Given the description of an element on the screen output the (x, y) to click on. 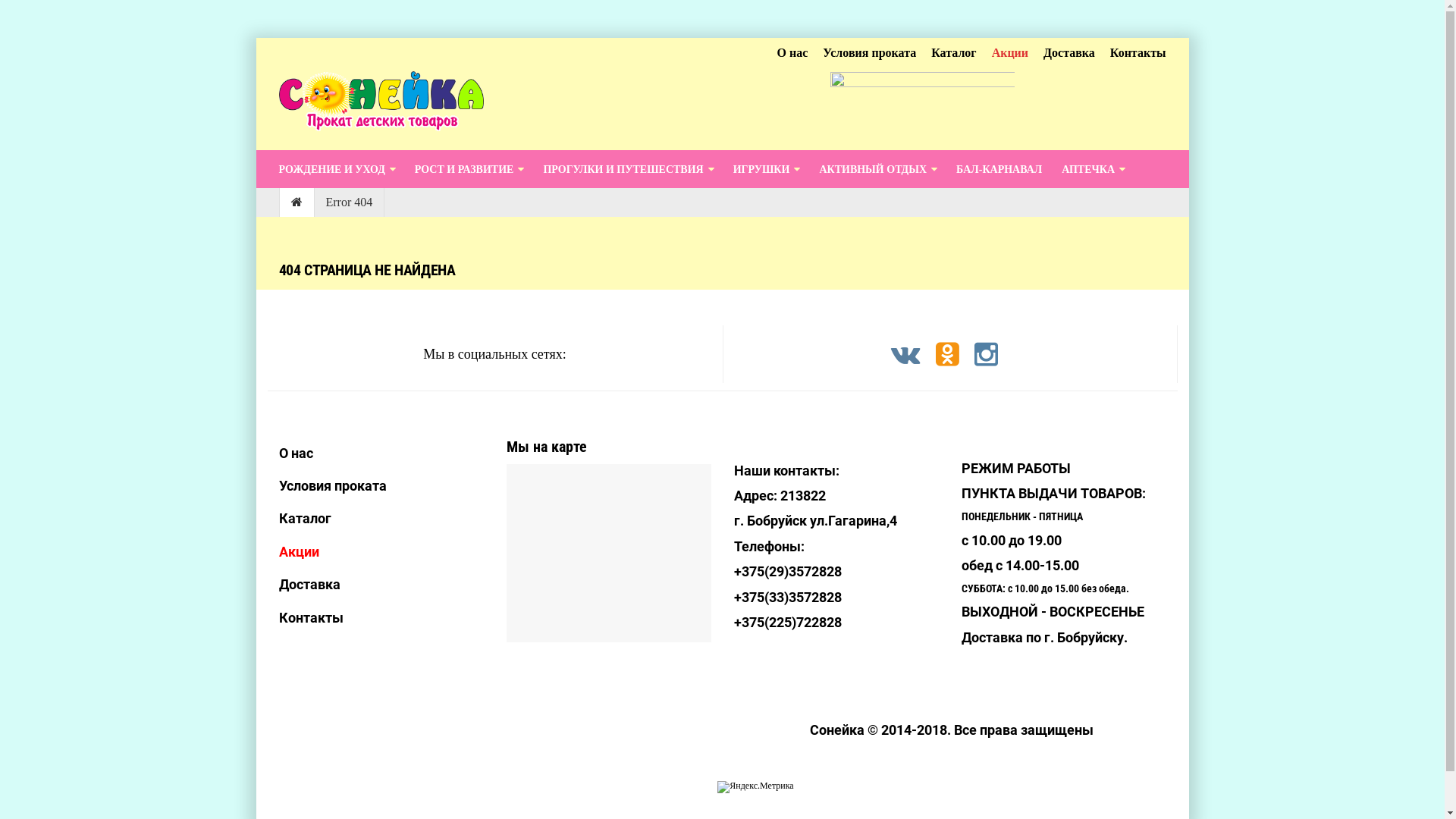
Instagram Element type: hover (985, 360)
Instagram Element type: hover (985, 353)
